Given the description of an element on the screen output the (x, y) to click on. 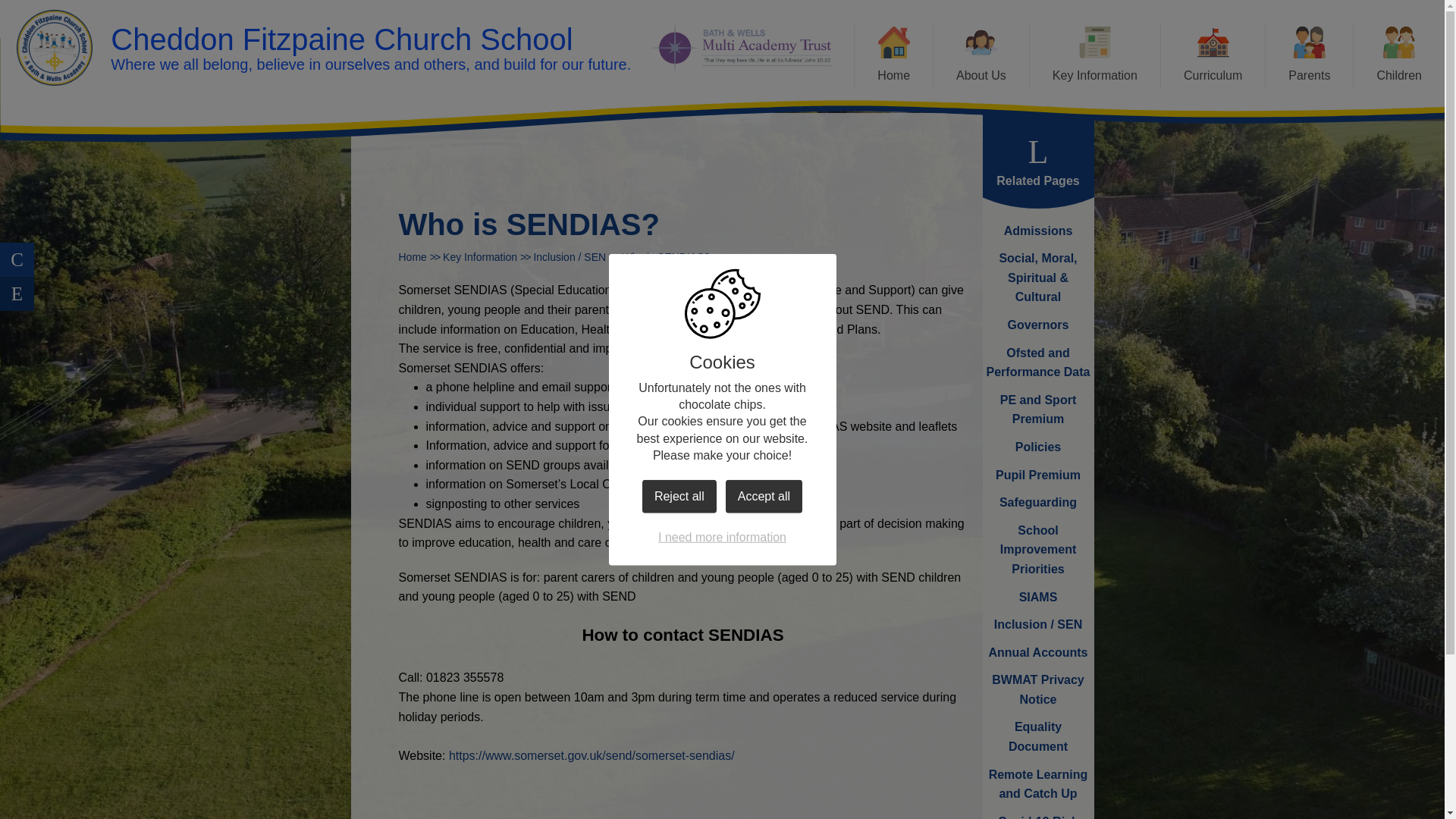
Curriculum (1212, 55)
Trust Website (740, 47)
Home (893, 55)
Home Page (54, 47)
Key Information (1094, 55)
About Us (981, 55)
